Given the description of an element on the screen output the (x, y) to click on. 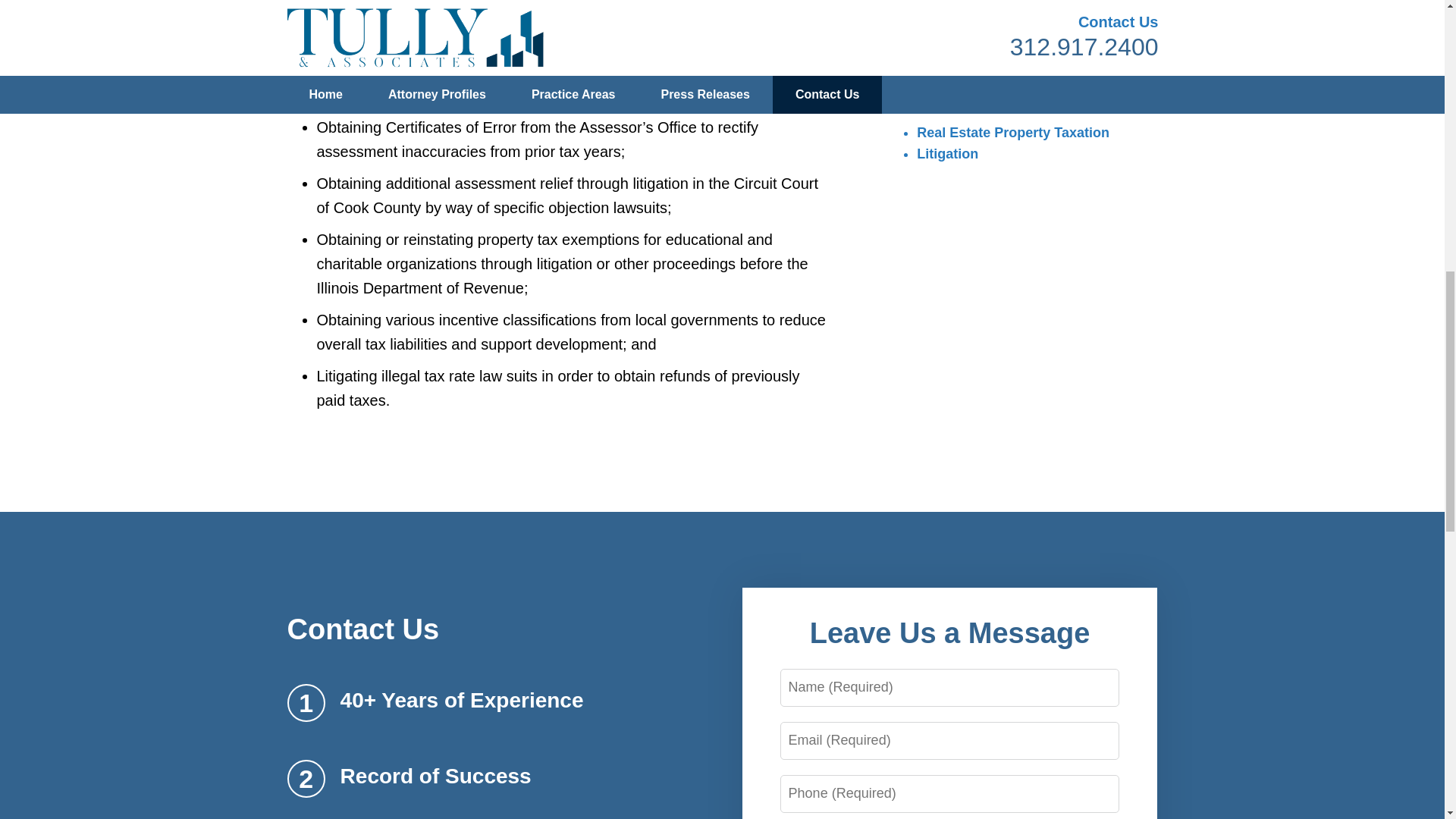
Contact Us Now (1012, 22)
Litigation (947, 153)
Real Estate Property Taxation (1013, 132)
